Given the description of an element on the screen output the (x, y) to click on. 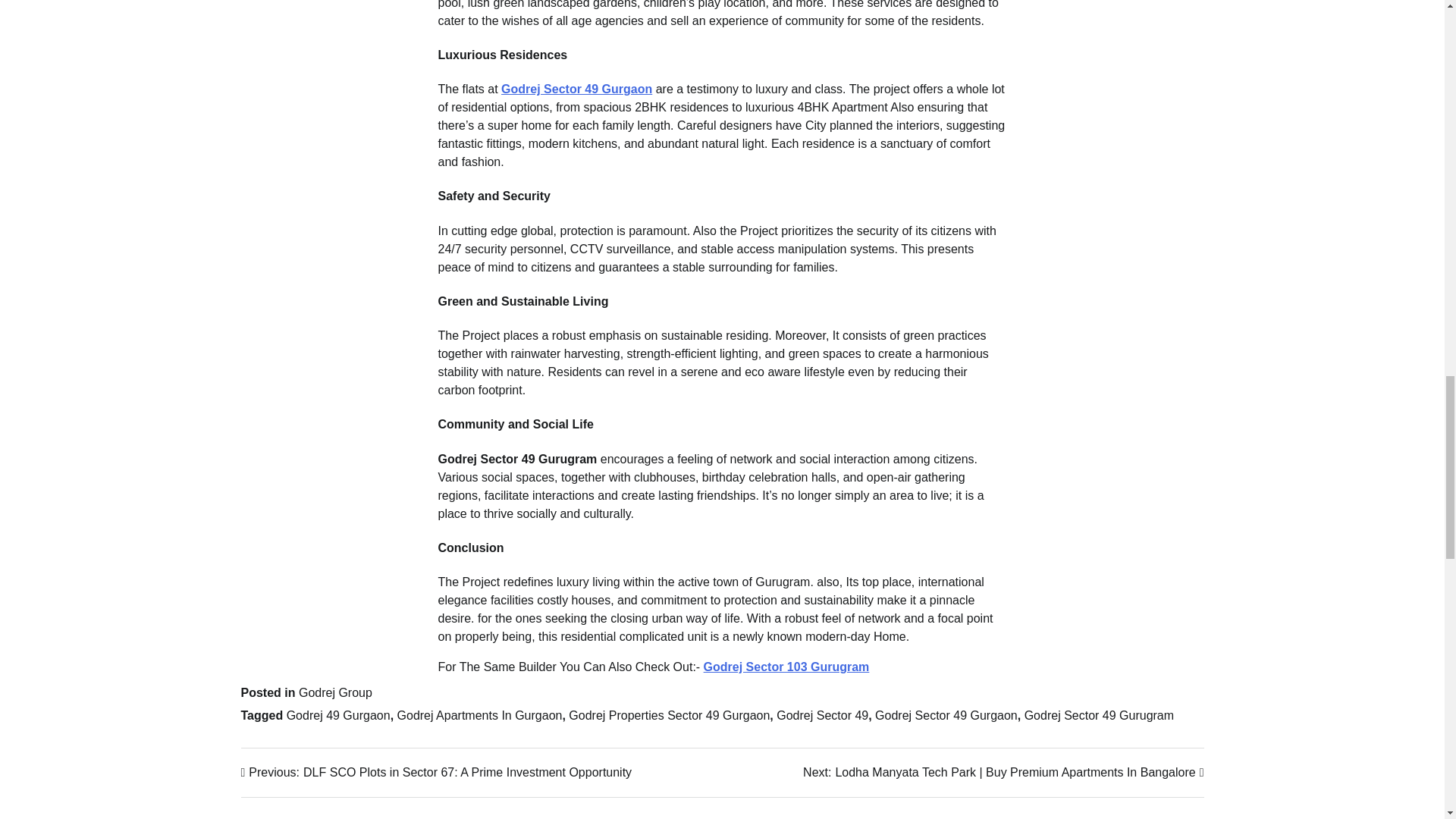
Godrej Sector 49 (821, 715)
Godrej Properties Sector 49 Gurgaon (669, 715)
Godrej 49 Gurgaon (338, 715)
Godrej Sector 49 Gurgaon (946, 715)
Godrej Sector 103 Gurugram (786, 666)
Godrej Group (335, 692)
Godrej Sector 49 Gurugram (1099, 715)
Godrej Sector 49 Gurgaon (576, 88)
Godrej Apartments In Gurgaon (479, 715)
